Given the description of an element on the screen output the (x, y) to click on. 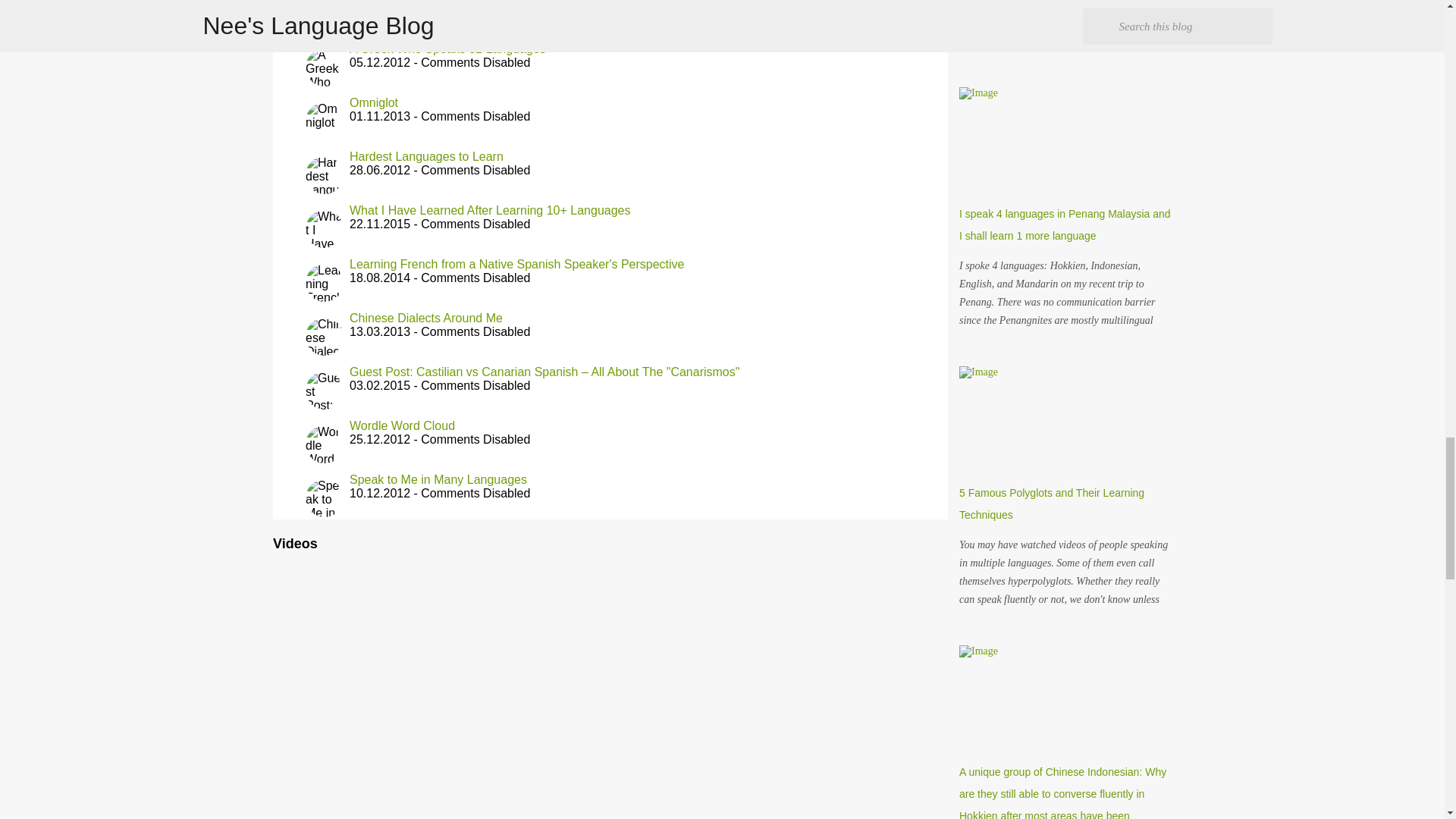
Hardest Languages to Learn (426, 156)
Learning French from a Native Spanish Speaker's Perspective (516, 263)
Wordle Word Cloud (401, 425)
A Greek Who Speaks 32 Languages (447, 48)
Omniglot (373, 102)
Why do I learn French? (412, 2)
Chinese Dialects Around Me (425, 317)
Speak to Me in Many Languages (438, 479)
